Given the description of an element on the screen output the (x, y) to click on. 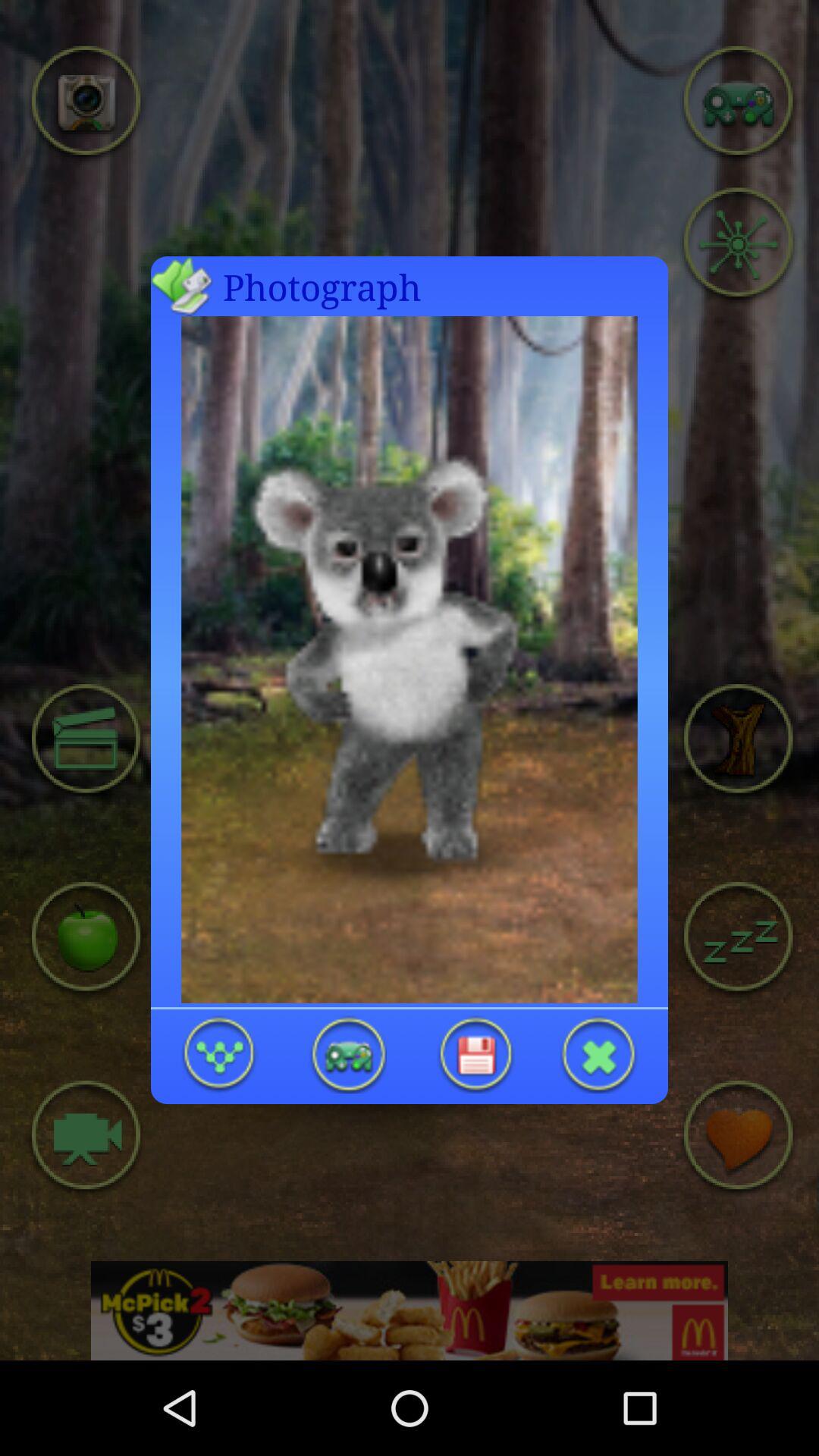
save (475, 1054)
